Given the description of an element on the screen output the (x, y) to click on. 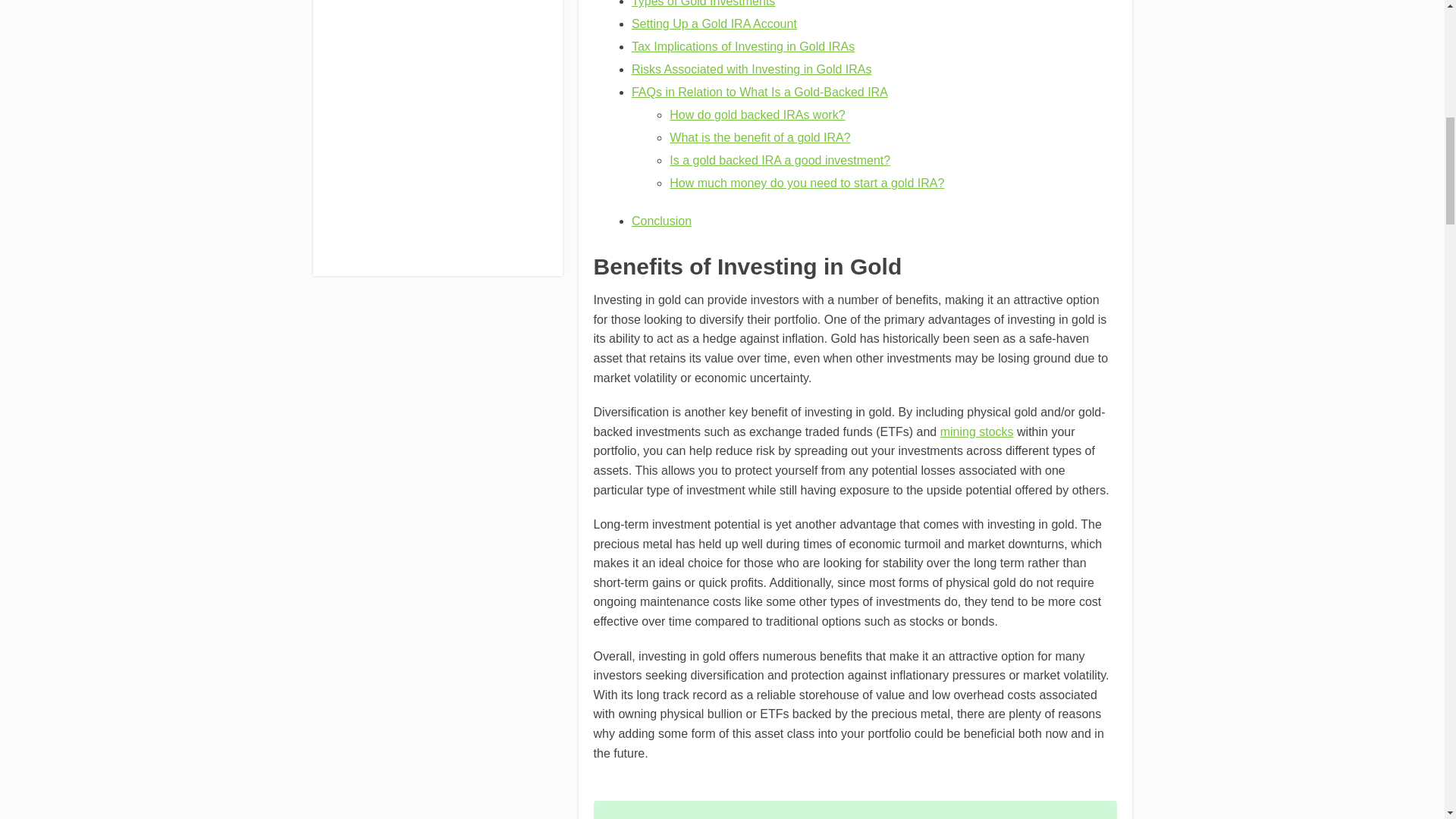
Conclusion (661, 220)
FAQs in Relation to What Is a Gold-Backed IRA (759, 91)
Types of Gold Investments (702, 3)
How do gold backed IRAs work? (756, 114)
Is a gold backed IRA a good investment? (779, 160)
Setting Up a Gold IRA Account (713, 23)
What is the benefit of a gold IRA? (759, 137)
Mining Stocks (976, 431)
Tax Implications of Investing in Gold IRAs (742, 46)
mining stocks (976, 431)
